Given the description of an element on the screen output the (x, y) to click on. 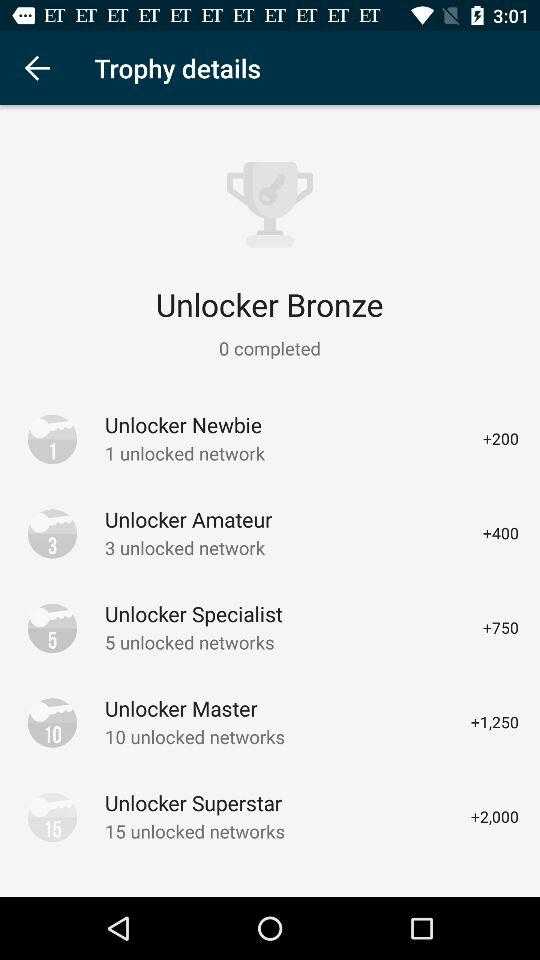
go to previous (36, 68)
